Given the description of an element on the screen output the (x, y) to click on. 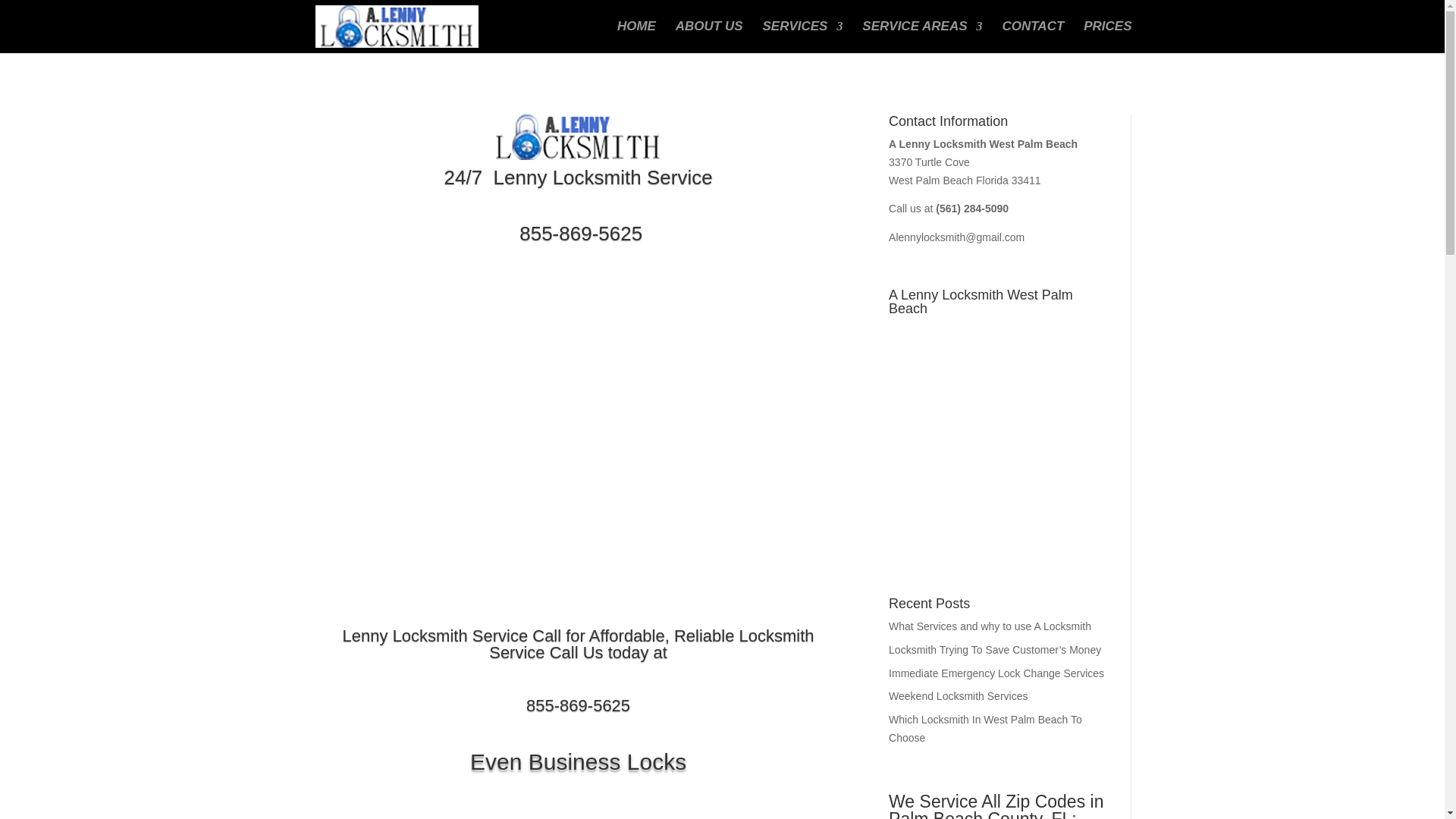
CONTACT (1032, 37)
SERVICE AREAS (921, 37)
 855-869-5625 (577, 232)
PRICES (1107, 37)
SERVICES (802, 37)
ABOUT US (708, 37)
HOME (636, 37)
